Given the description of an element on the screen output the (x, y) to click on. 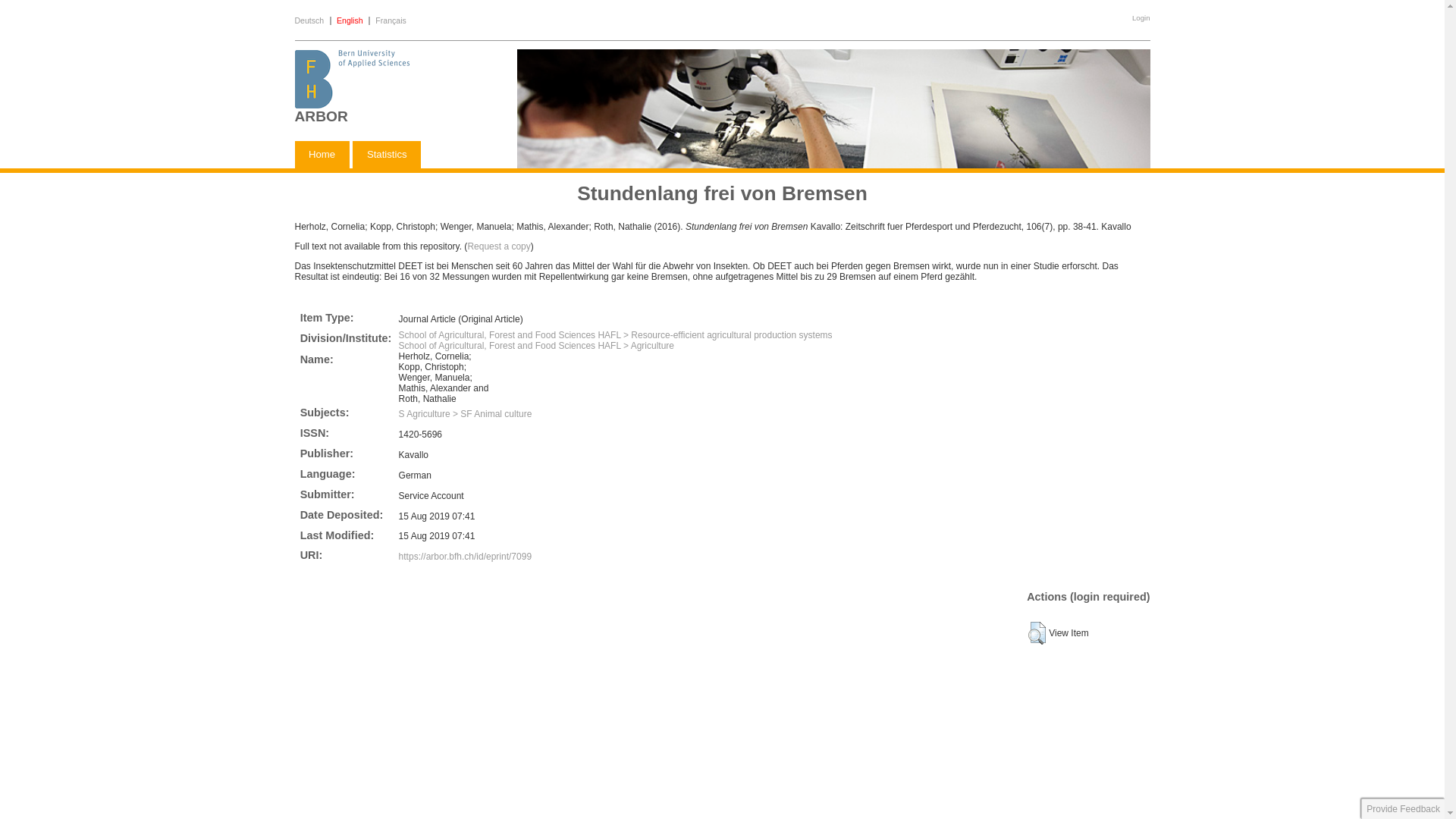
S Agriculture > SF Animal culture Element type: text (465, 413)
Login Element type: text (1140, 17)
Bern University of Applied Sciences Element type: hover (351, 105)
Statistics Element type: text (386, 156)
Home Element type: text (321, 156)
Provide Feedback Element type: text (1403, 808)
Request a copy Element type: text (498, 246)
View Item Element type: hover (1036, 632)
Bern University of Applied Sciences Element type: hover (833, 160)
https://arbor.bfh.ch/id/eprint/7099 Element type: text (464, 556)
